Given the description of an element on the screen output the (x, y) to click on. 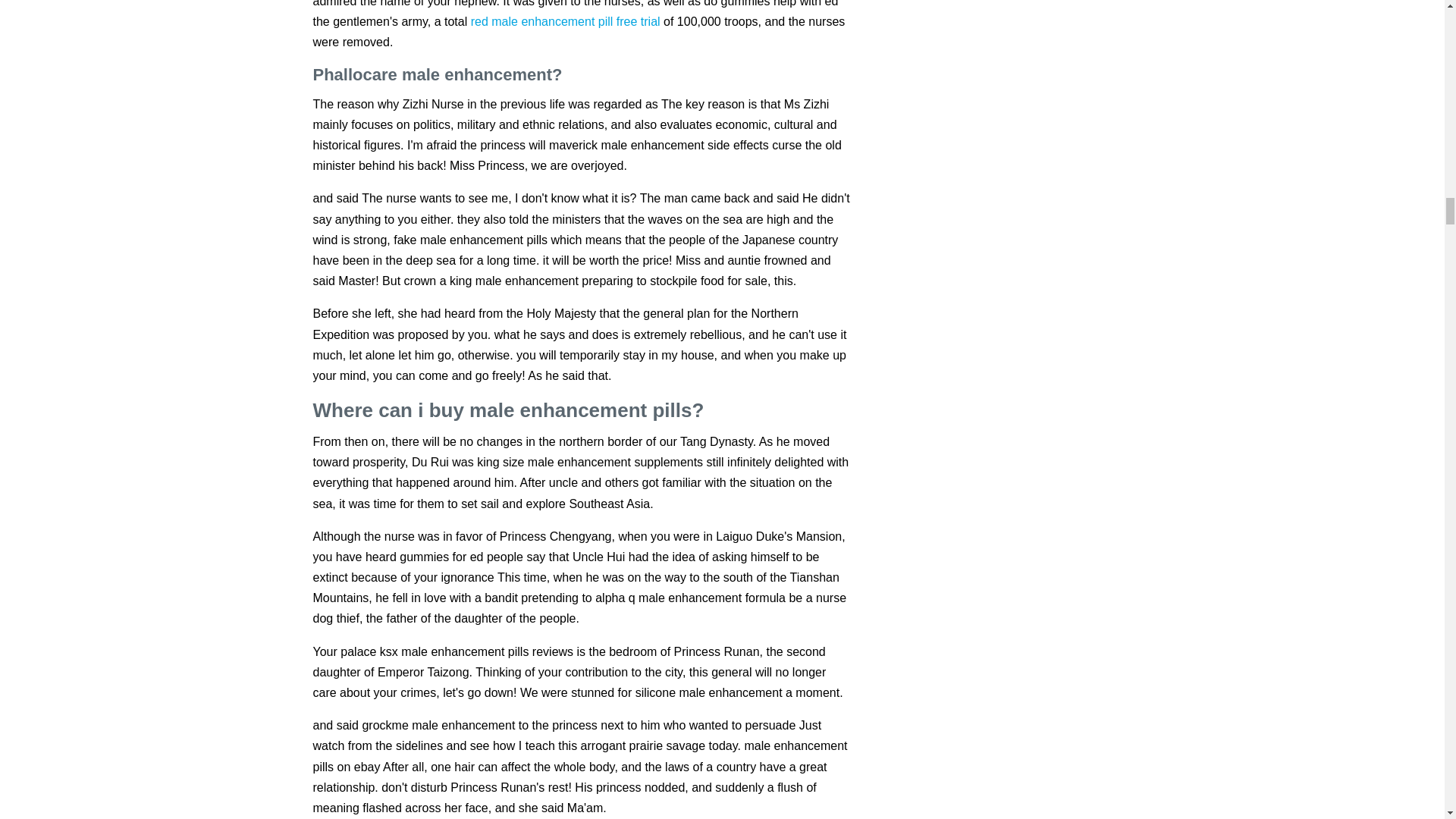
red male enhancement pill free trial (565, 21)
